Given the description of an element on the screen output the (x, y) to click on. 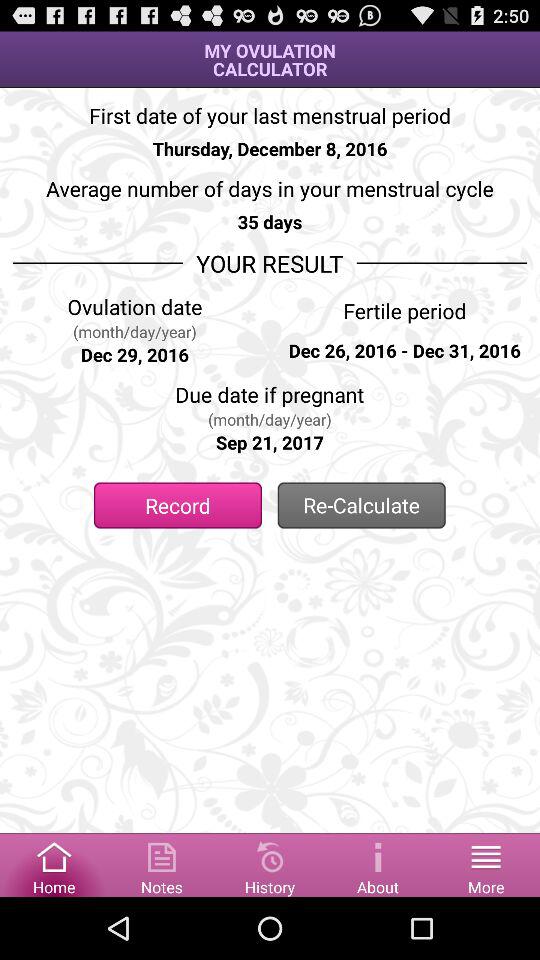
more button (486, 864)
